Given the description of an element on the screen output the (x, y) to click on. 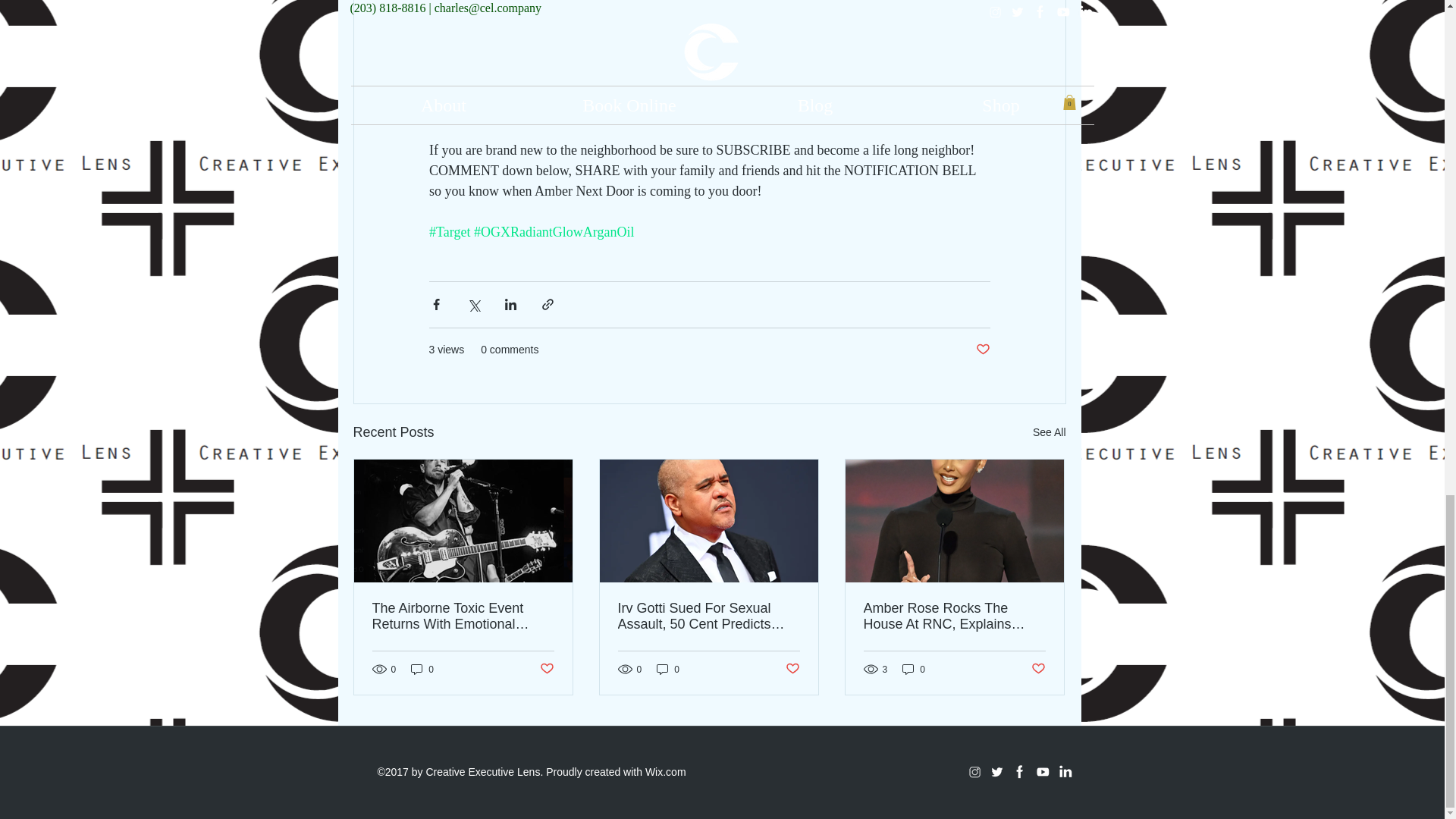
Post not marked as liked (547, 668)
remote content (709, 69)
Post not marked as liked (982, 349)
See All (1048, 432)
0 (422, 668)
